Given the description of an element on the screen output the (x, y) to click on. 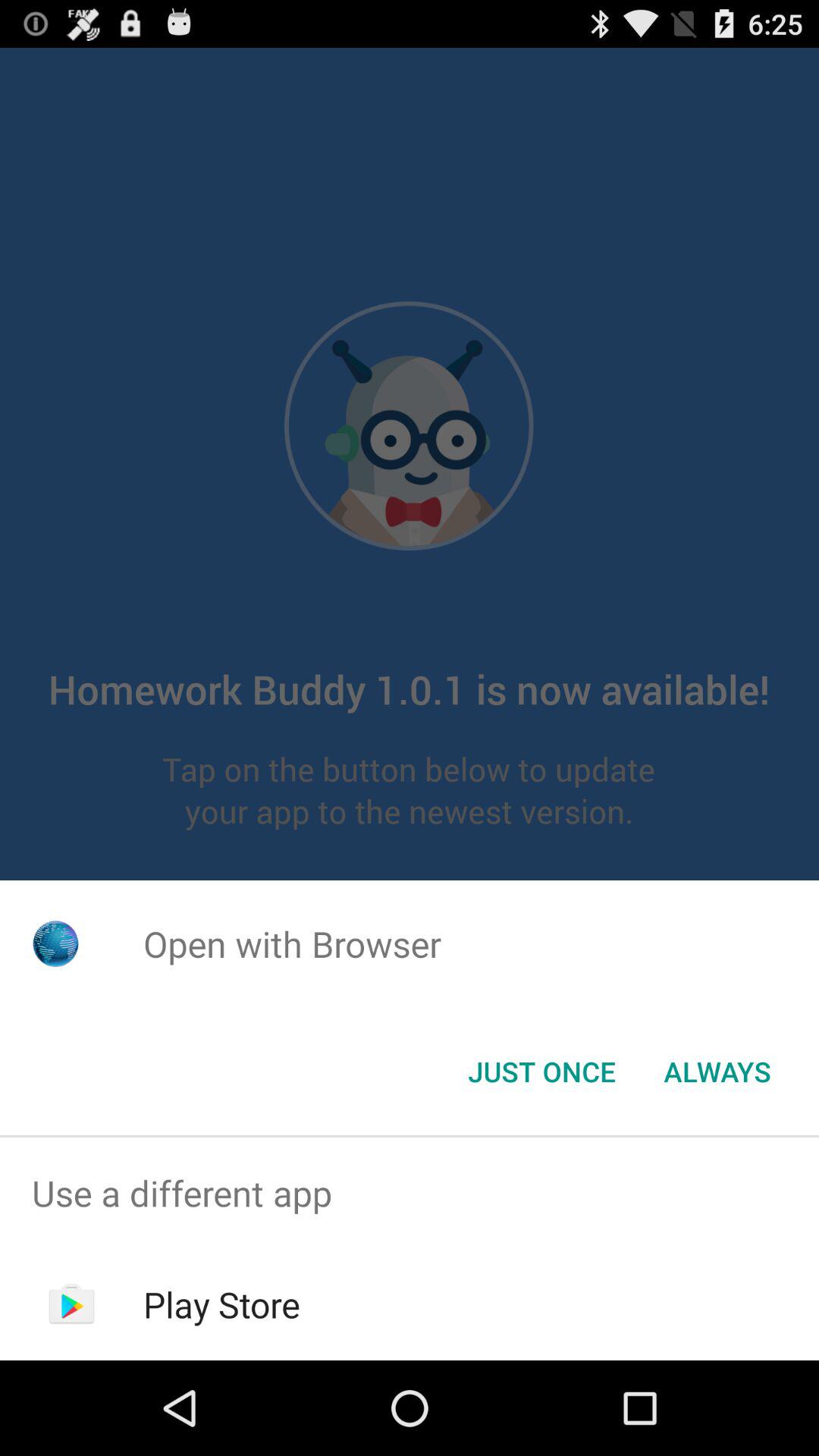
turn off the just once item (541, 1071)
